Given the description of an element on the screen output the (x, y) to click on. 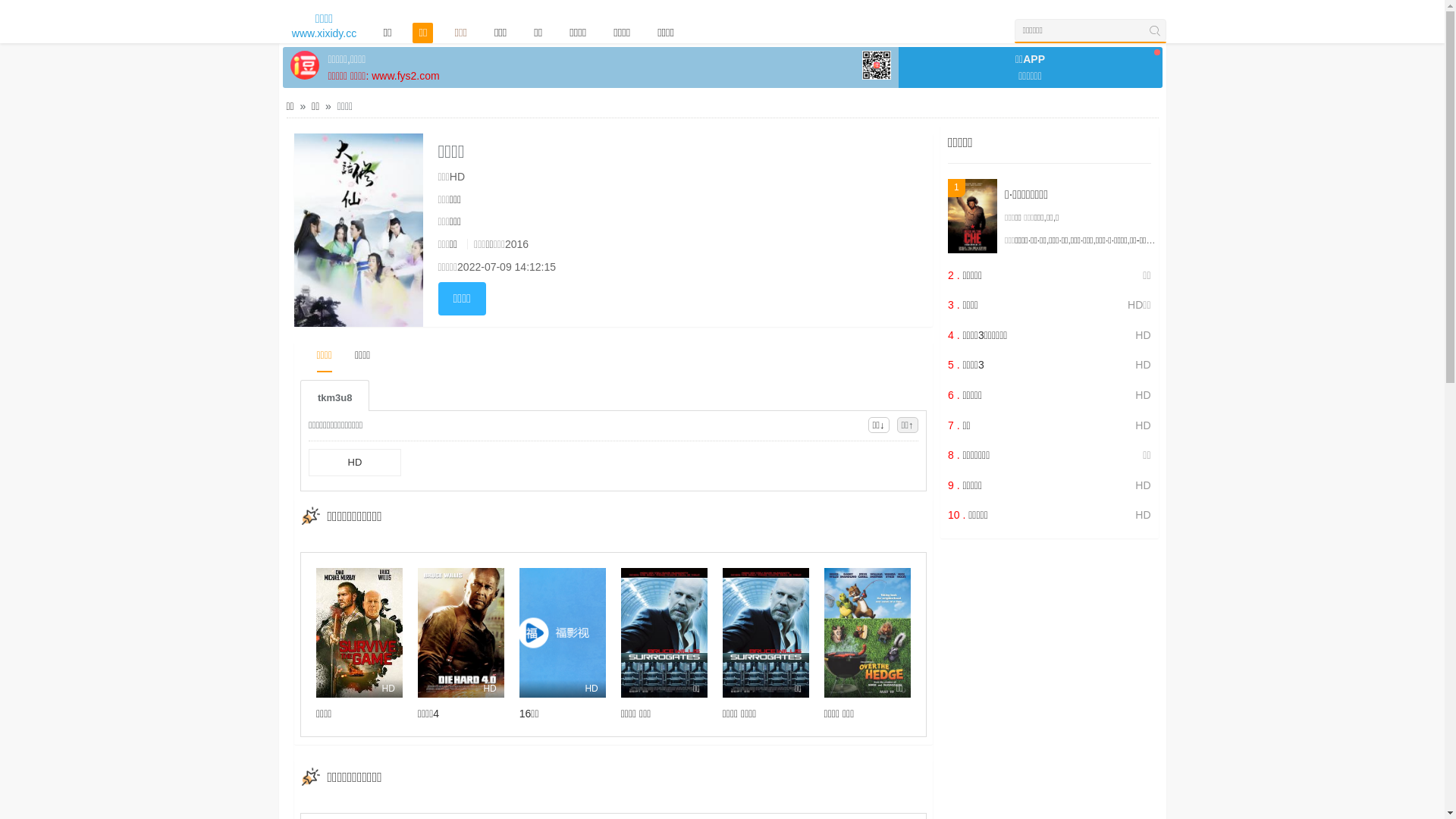
tkm3u8 Element type: text (335, 395)
HD Element type: text (359, 632)
HD Element type: text (562, 632)
HD Element type: text (354, 462)
HD Element type: text (460, 632)
1 Element type: text (972, 215)
